Given the description of an element on the screen output the (x, y) to click on. 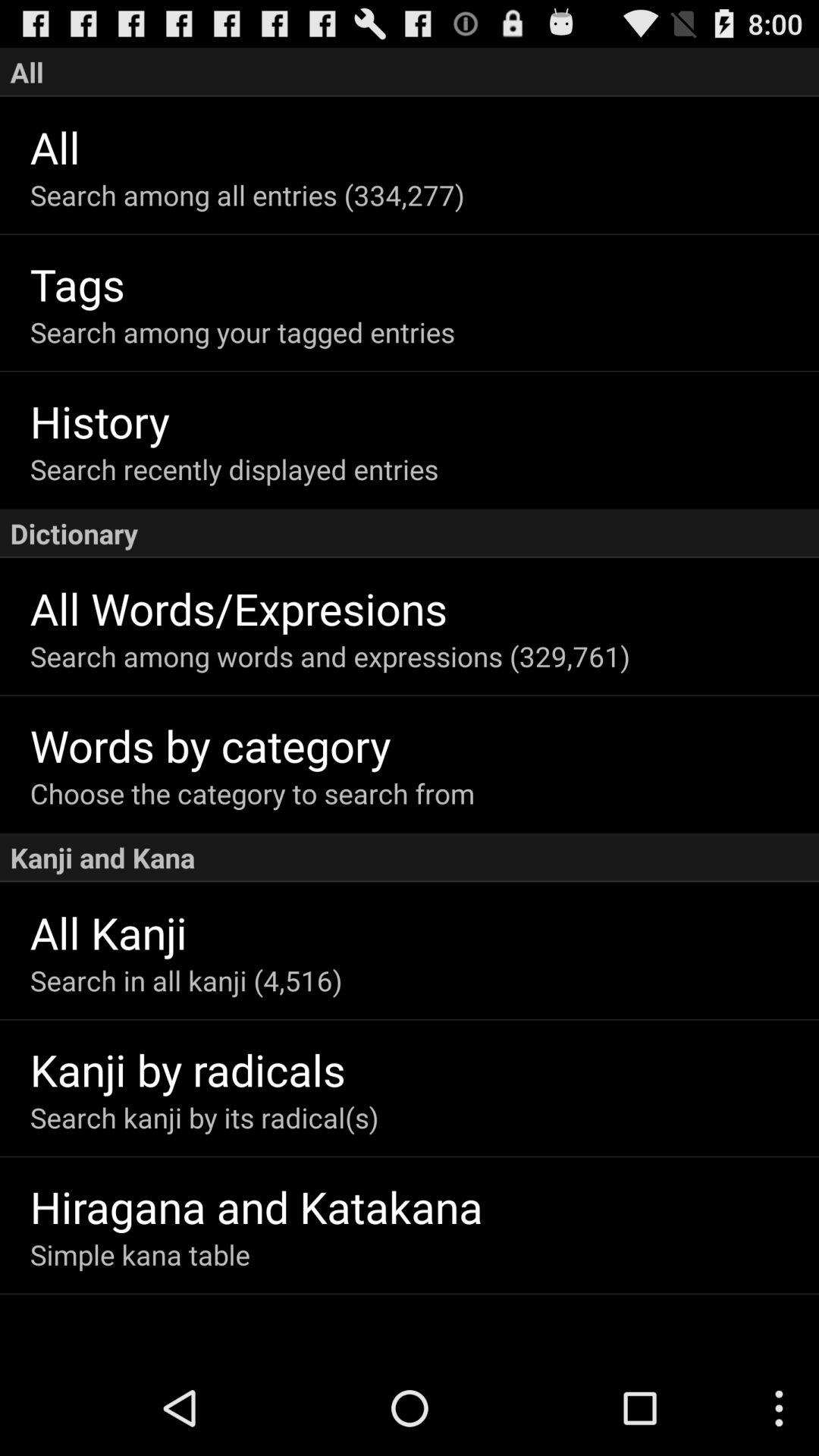
click search recently displayed app (424, 468)
